Given the description of an element on the screen output the (x, y) to click on. 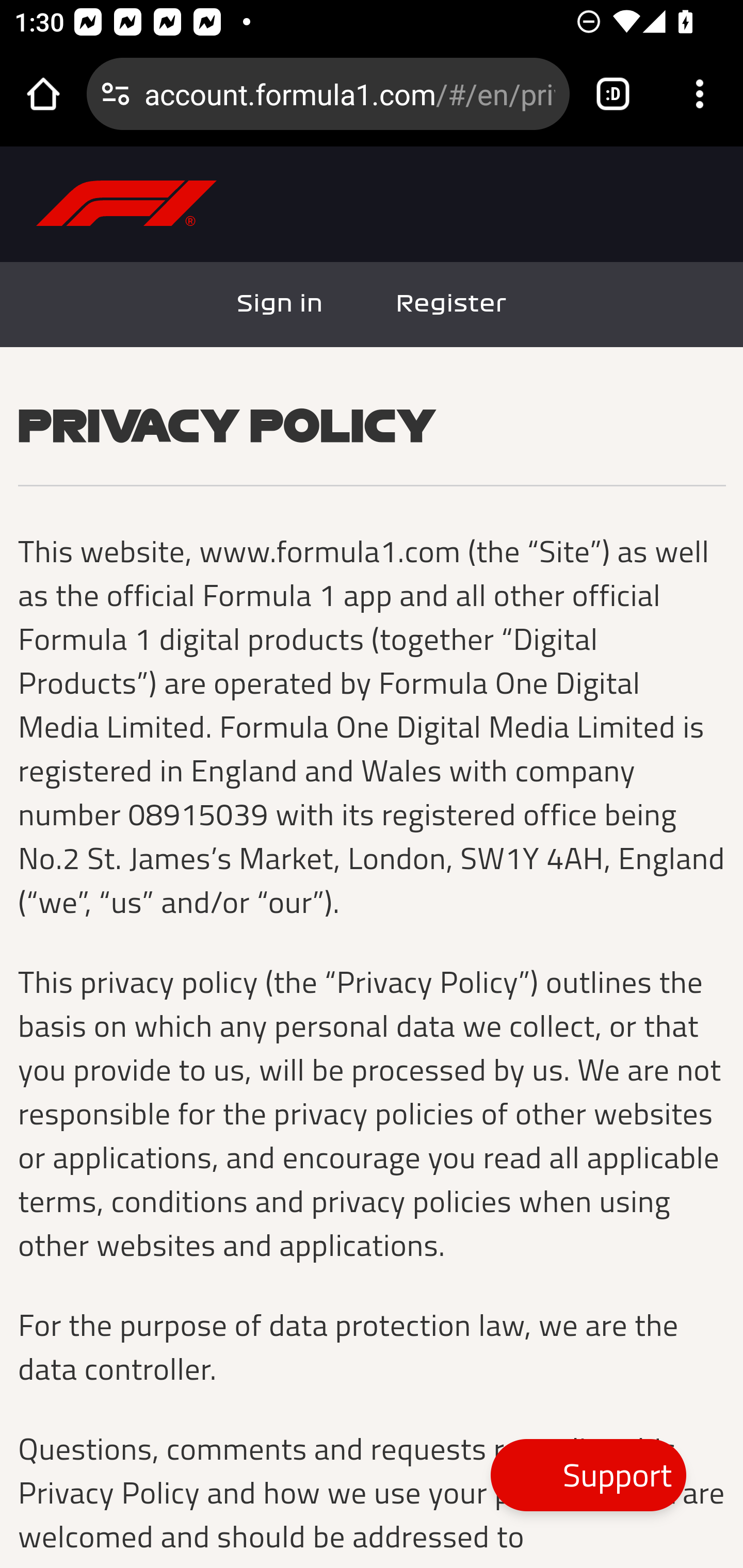
Open the home page (43, 93)
Connection is secure (115, 93)
Switch or close tabs (612, 93)
Customize and control Google Chrome (699, 93)
account.formula1.com/#/en/privacy-policy (349, 92)
Formula1 (127, 203)
Sign in (280, 304)
Register (451, 304)
Support (588, 1475)
